Given the description of an element on the screen output the (x, y) to click on. 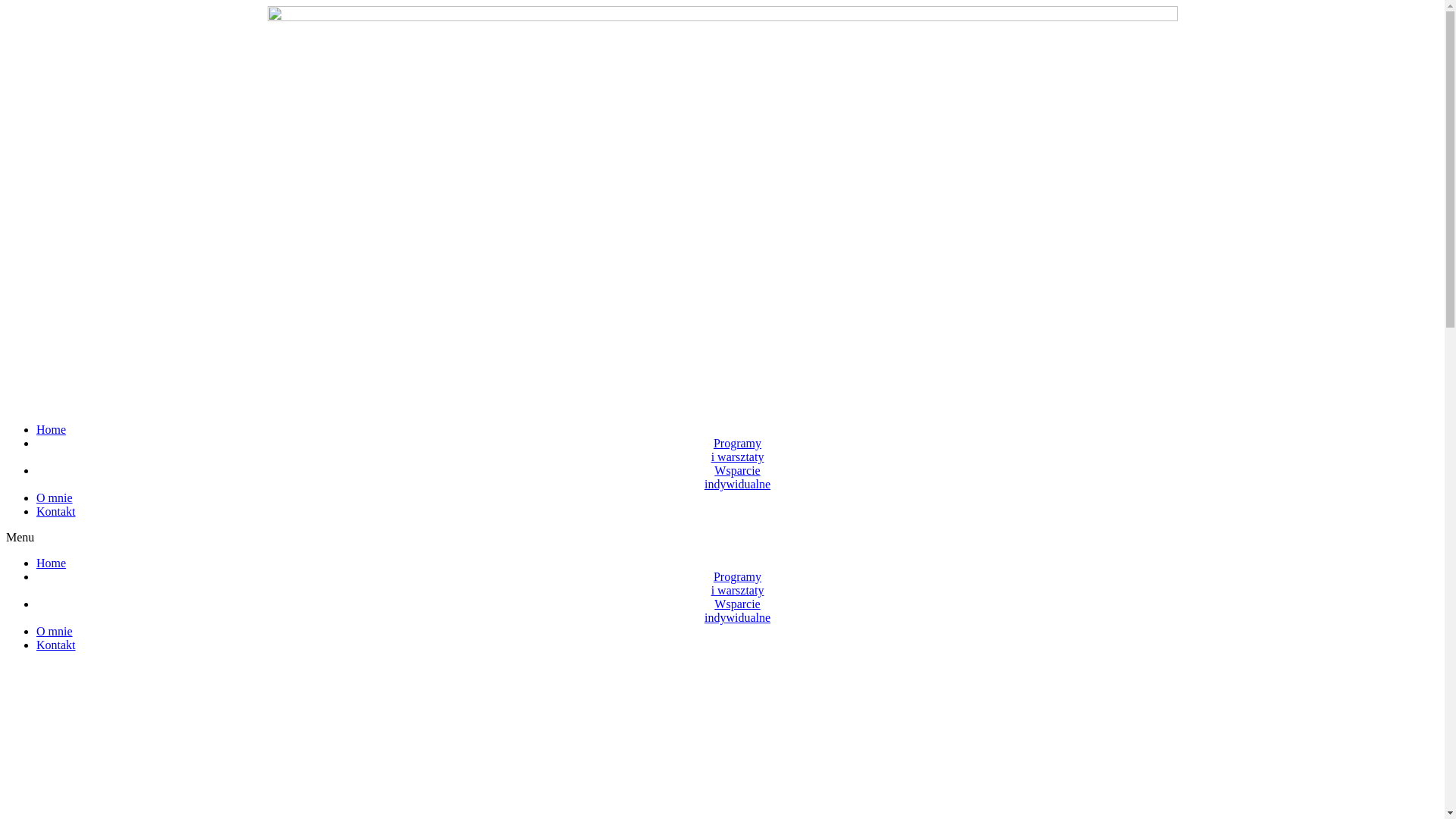
Wsparcie
indywidualne Element type: text (737, 477)
O mnie Element type: text (54, 497)
Kontakt Element type: text (55, 644)
Wsparcie
indywidualne Element type: text (737, 610)
Home Element type: text (50, 562)
Programy
i warsztaty Element type: text (737, 583)
Home Element type: text (50, 429)
Programy
i warsztaty Element type: text (737, 450)
Kontakt Element type: text (55, 511)
O mnie Element type: text (54, 630)
